Given the description of an element on the screen output the (x, y) to click on. 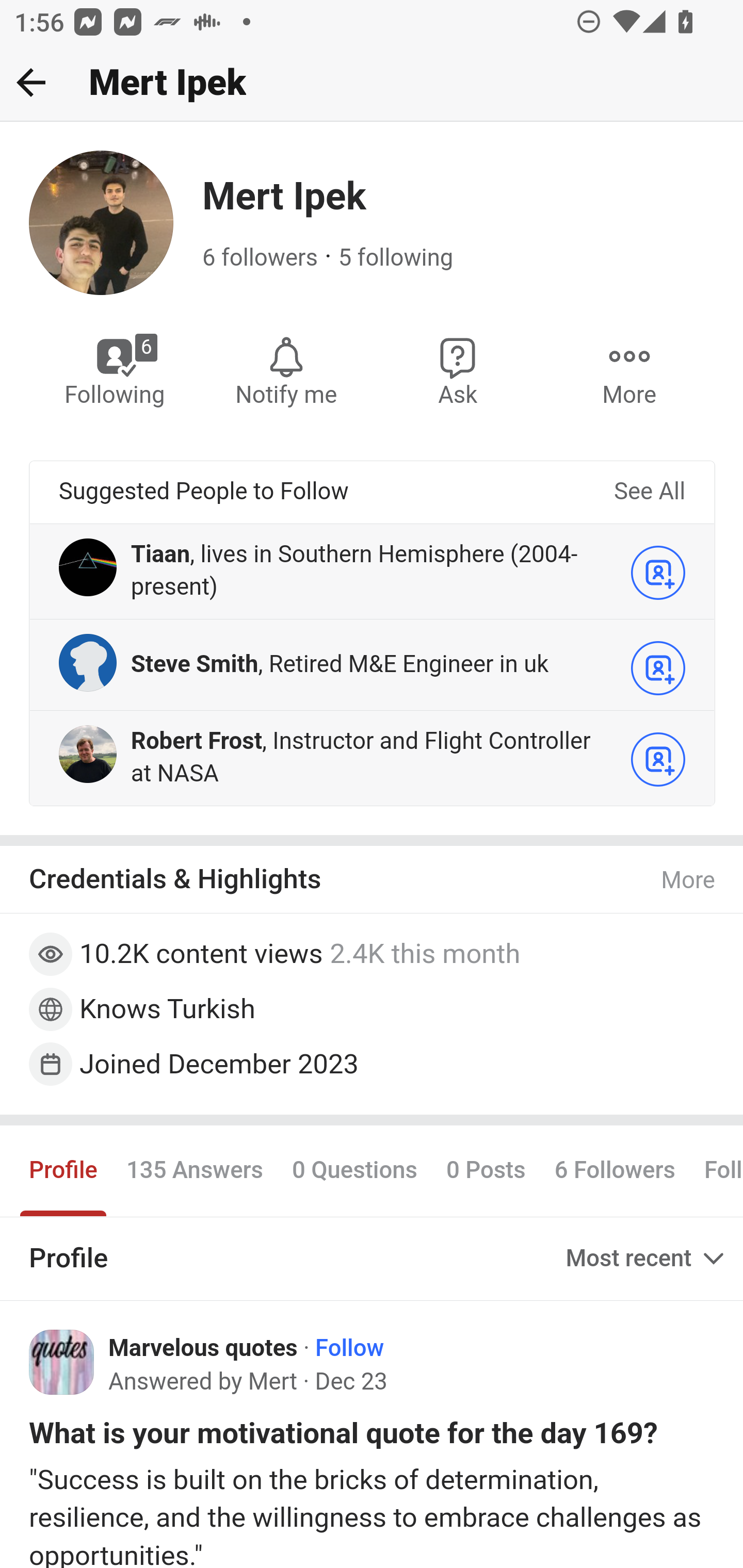
Back (30, 82)
6 followers (260, 257)
5 following (395, 257)
Following Mert Ipek 6 Following (115, 370)
Notify me (285, 370)
Ask (458, 370)
More (628, 370)
See All (649, 492)
Profile photo for Tiaan (87, 565)
Tiaan (160, 554)
Follow Tiaan (658, 572)
Profile photo for Steve Smith (87, 661)
Follow Steve Smith (658, 667)
Steve Smith (195, 664)
Profile photo for Robert Frost (87, 754)
Robert Frost (196, 741)
Follow Robert Frost (658, 759)
More (688, 880)
Profile (63, 1170)
135 Answers (193, 1170)
0 Questions (354, 1170)
0 Posts (485, 1170)
6 Followers (614, 1170)
Most recent (647, 1257)
Icon for Marvelous quotes (61, 1362)
Marvelous quotes (202, 1348)
Follow (349, 1348)
